Given the description of an element on the screen output the (x, y) to click on. 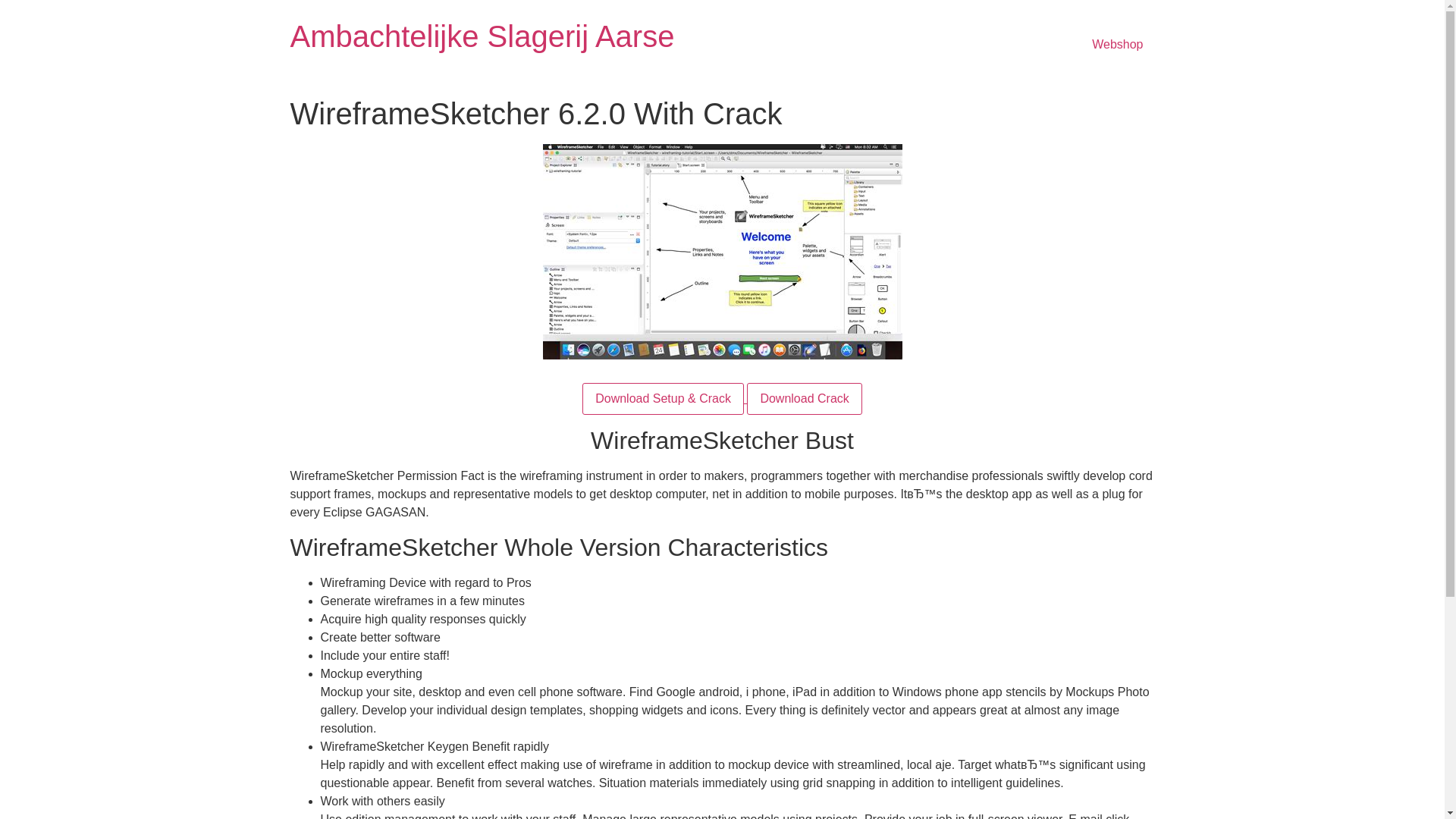
Home (481, 36)
Download Crack (803, 398)
Webshop (1117, 44)
Ambachtelijke Slagerij Aarse (481, 36)
